Given the description of an element on the screen output the (x, y) to click on. 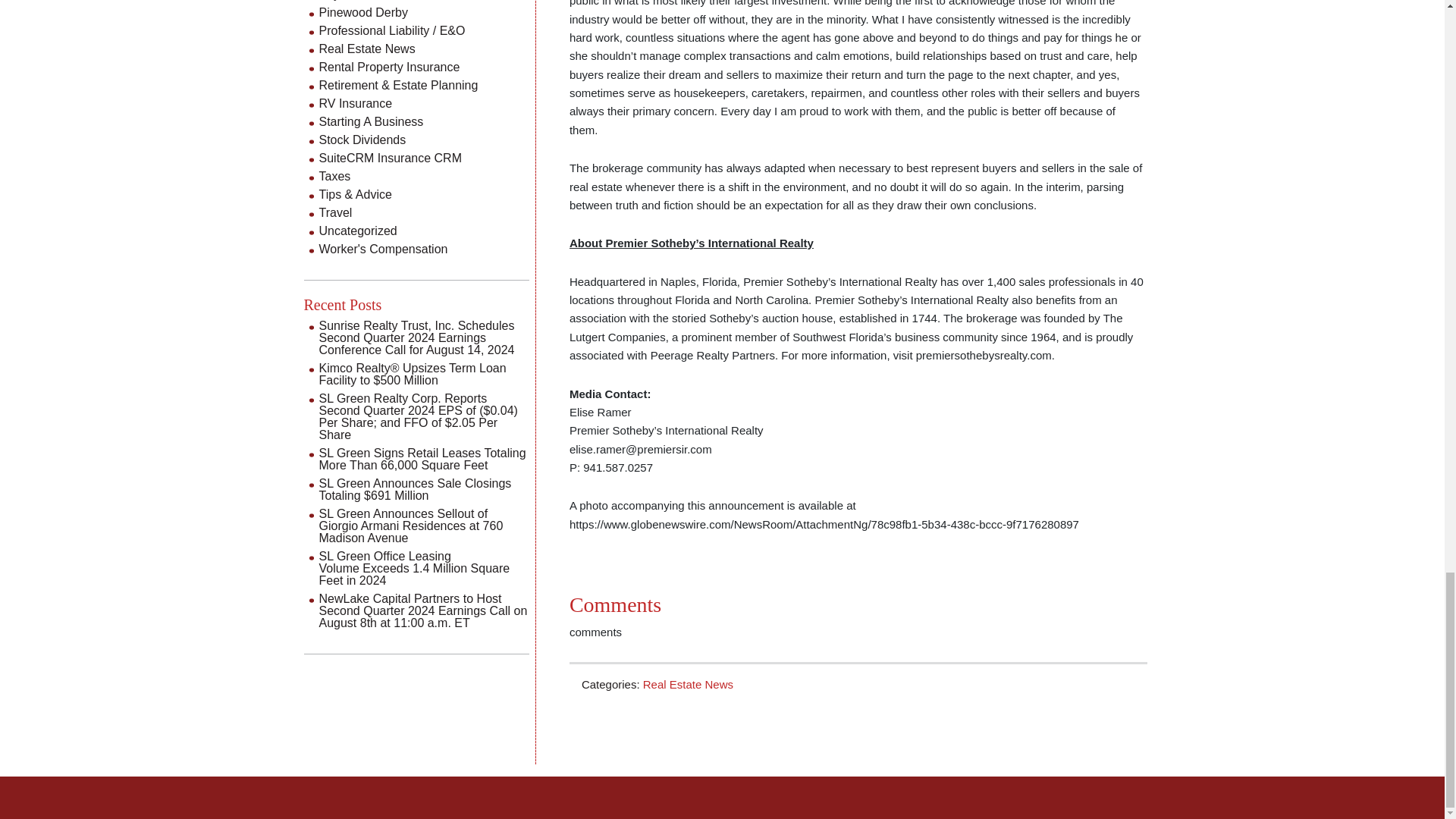
Real Estate News (688, 684)
